Given the description of an element on the screen output the (x, y) to click on. 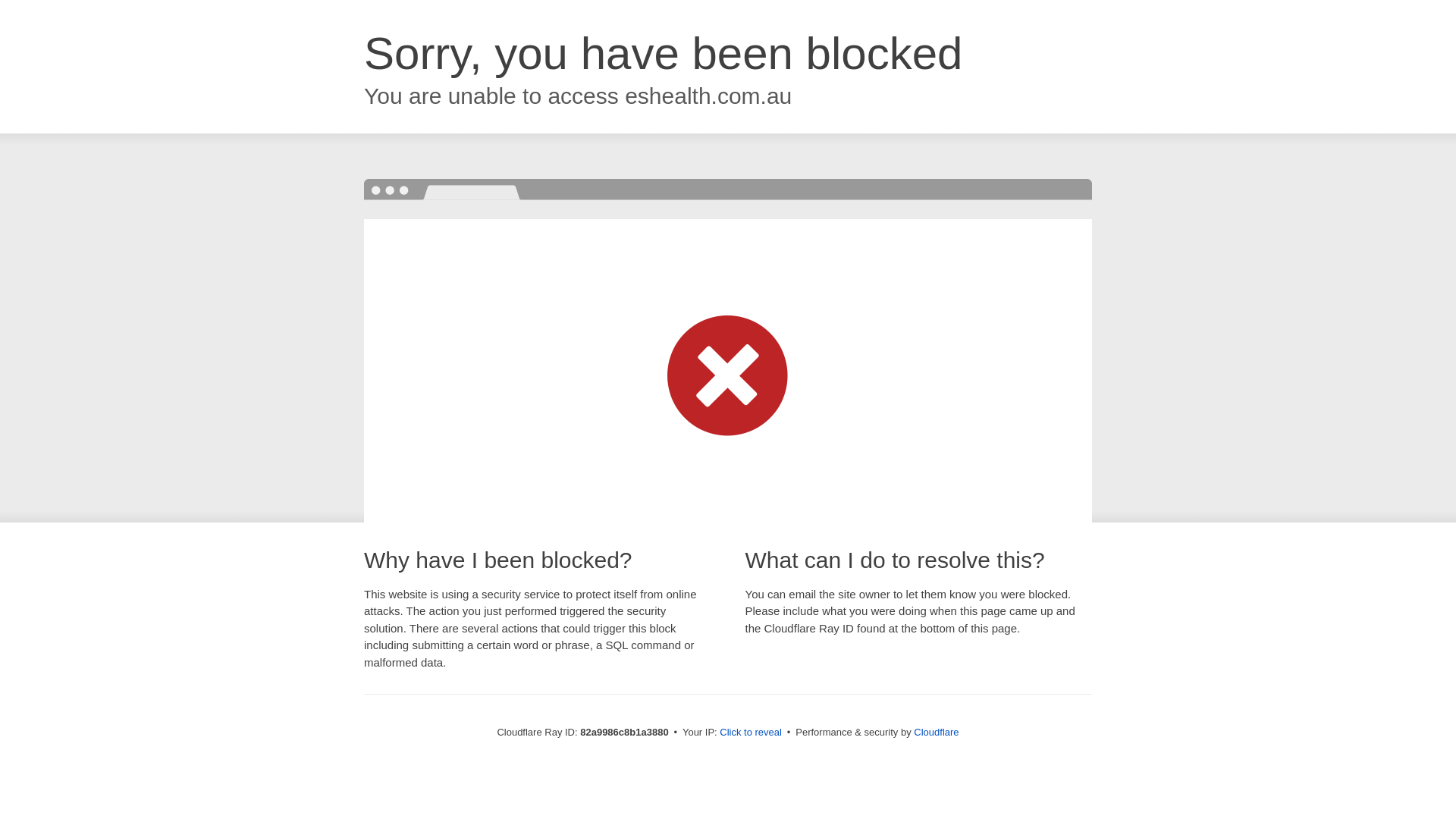
Click to reveal Element type: text (750, 732)
Cloudflare Element type: text (935, 731)
